Given the description of an element on the screen output the (x, y) to click on. 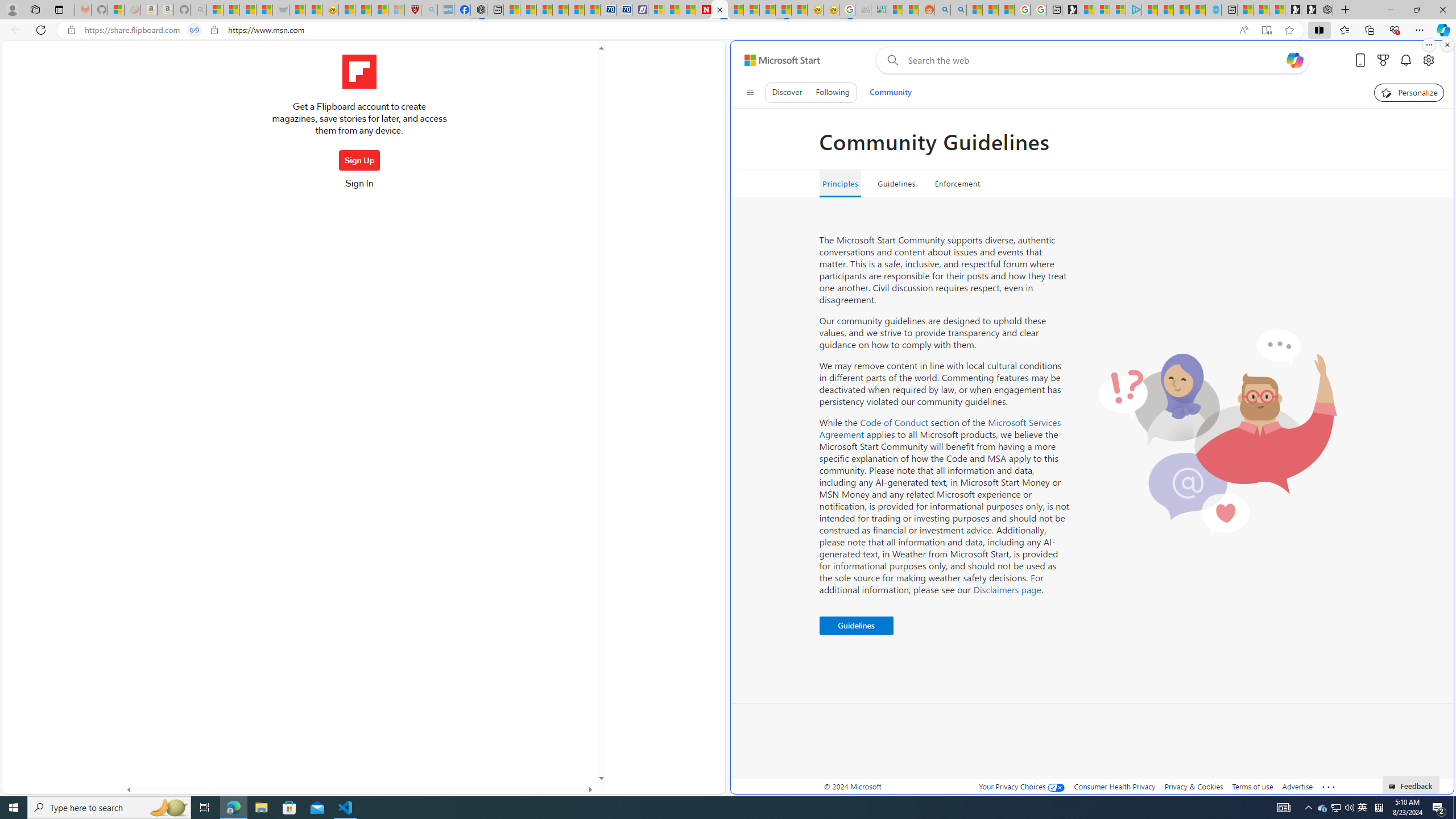
Privacy & Cookies (1193, 786)
14 Common Myths Debunked By Scientific Facts (735, 9)
Class: logo (359, 71)
Microsoft Start Gaming (1070, 9)
12 Popular Science Lies that Must be Corrected - Sleeping (395, 9)
Skip to footer (775, 59)
Code of Conduct (894, 422)
DITOGAMES AG Imprint (878, 9)
Stocks - MSN (264, 9)
Consumer Health Privacy (1115, 785)
